Given the description of an element on the screen output the (x, y) to click on. 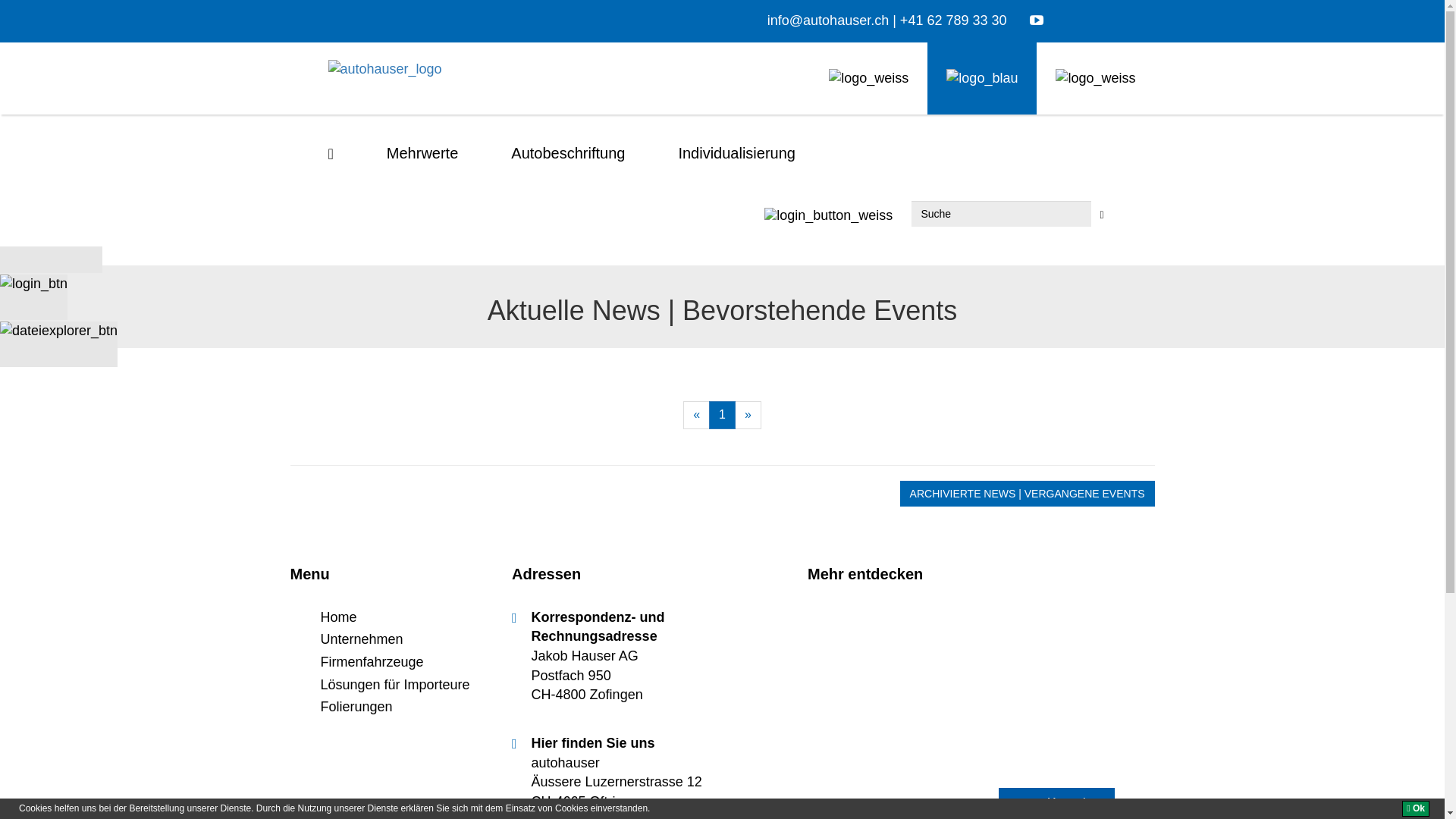
Firmenfahrzeuge Element type: text (371, 661)
Mehrwerte Element type: text (422, 152)
www.autohauser.ch Element type: hover (868, 78)
Individualisierung Element type: text (736, 152)
ARCHIVIERTE NEWS | VERGANGENE EVENTS Element type: text (1027, 493)
Folierungen Element type: text (356, 706)
Home Element type: text (338, 616)
info@autohauser.ch Element type: text (827, 20)
Autobeschriftung Element type: text (567, 152)
www.autohauser-classics.ch Element type: hover (1095, 78)
Insider Element type: hover (828, 214)
Unternehmen Element type: text (361, 638)
www.autohauser-beschriftung.ch Element type: hover (981, 78)
1 Element type: text (722, 415)
